Given the description of an element on the screen output the (x, y) to click on. 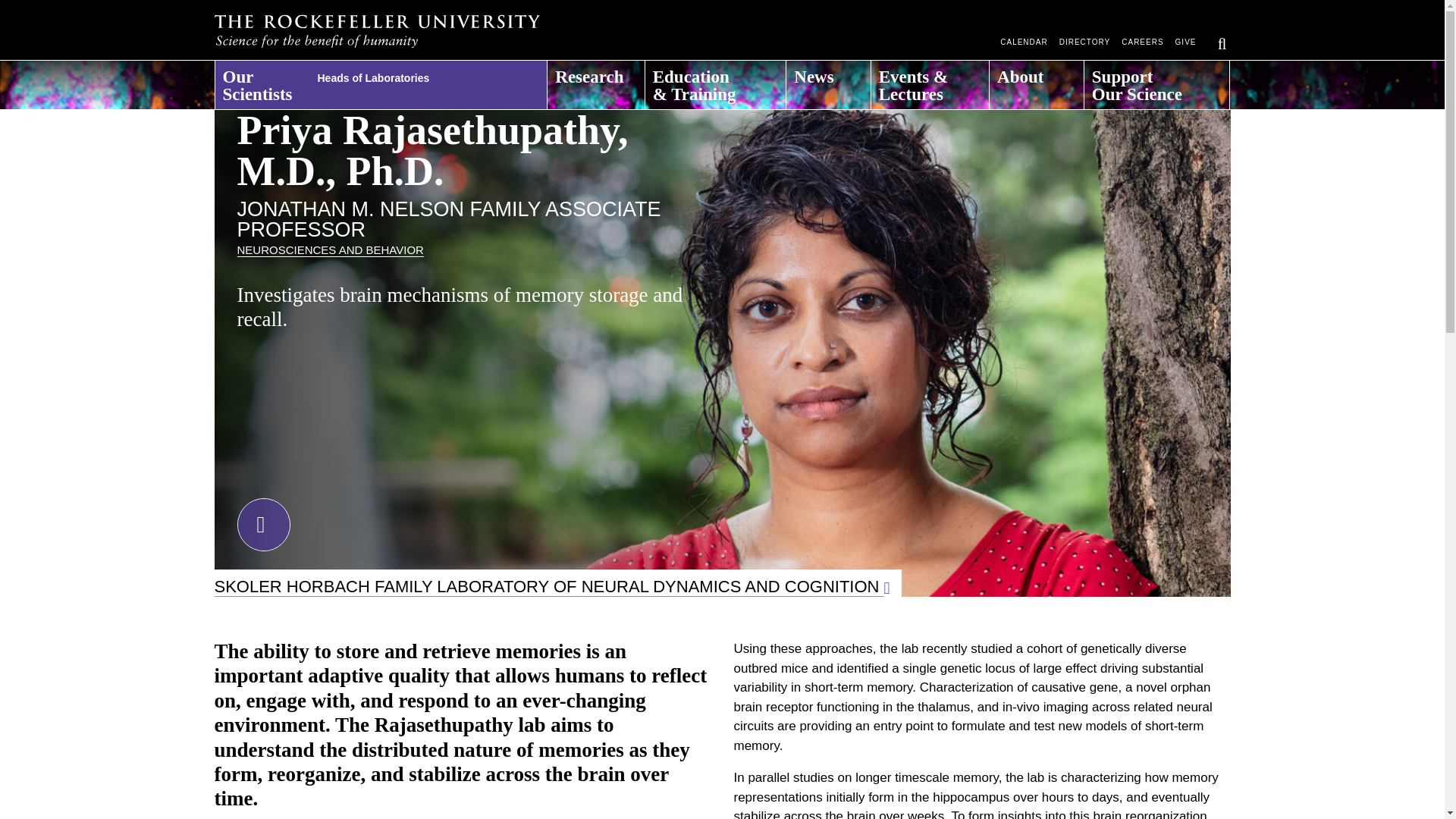
Heads of Laboratories (400, 74)
Research (595, 80)
News (827, 80)
Our Scientists (381, 80)
